Given the description of an element on the screen output the (x, y) to click on. 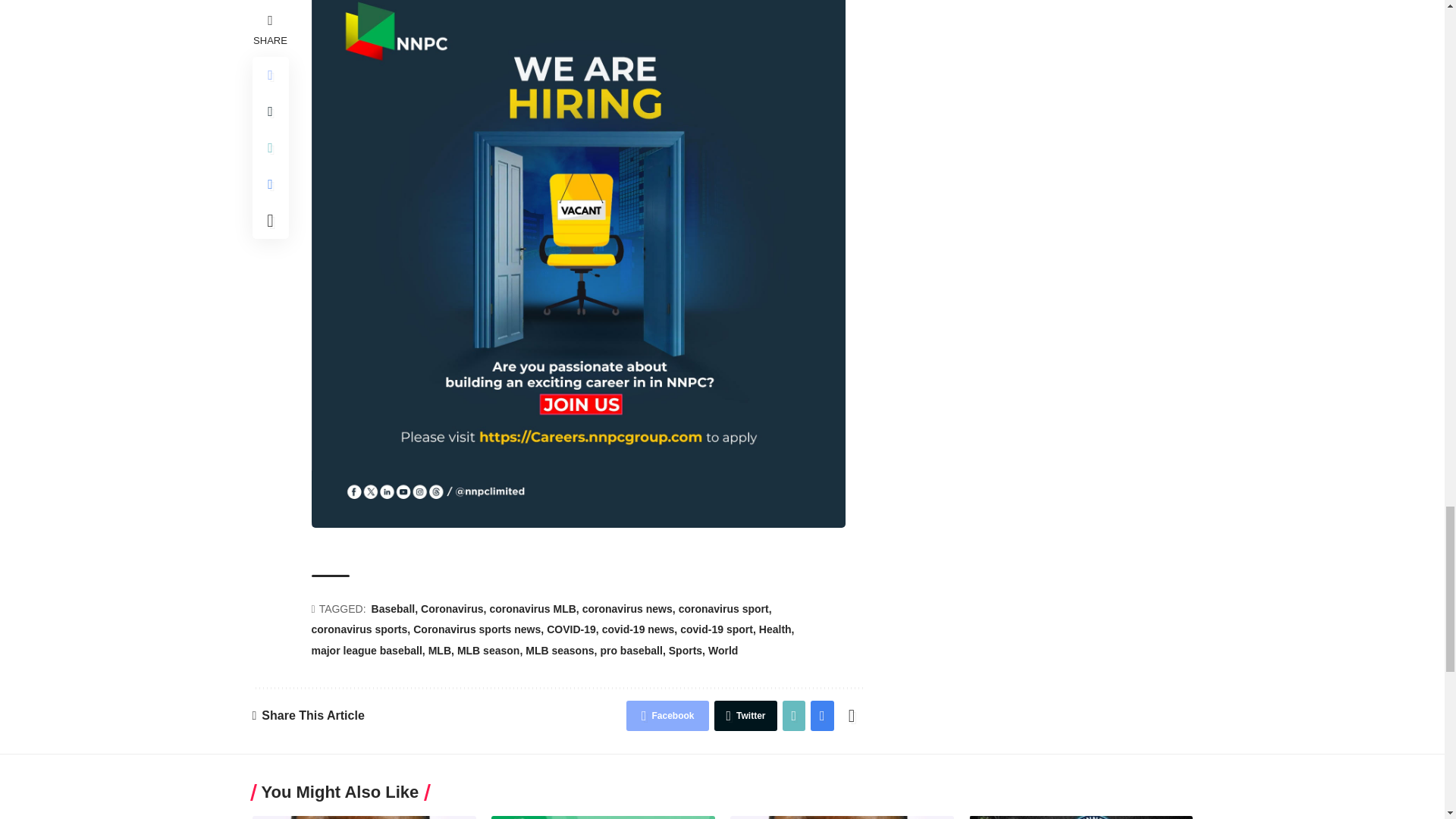
World PR Day: APRA Advocates Ethical, Responsible Use of AI (603, 817)
Baseball (394, 609)
covid-19 sport (717, 629)
Coronavirus sports news (478, 629)
coronavirus sport (724, 609)
covid-19 news (640, 629)
coronavirus MLB (533, 609)
Health (776, 629)
coronavirus sports (360, 629)
coronavirus news (628, 609)
ECOWAS continues its blunders as West Africa splits (841, 817)
Remake the world by ending colonialism: The Abuja agenda (363, 817)
major league baseball (368, 651)
Coronavirus (453, 609)
